Given the description of an element on the screen output the (x, y) to click on. 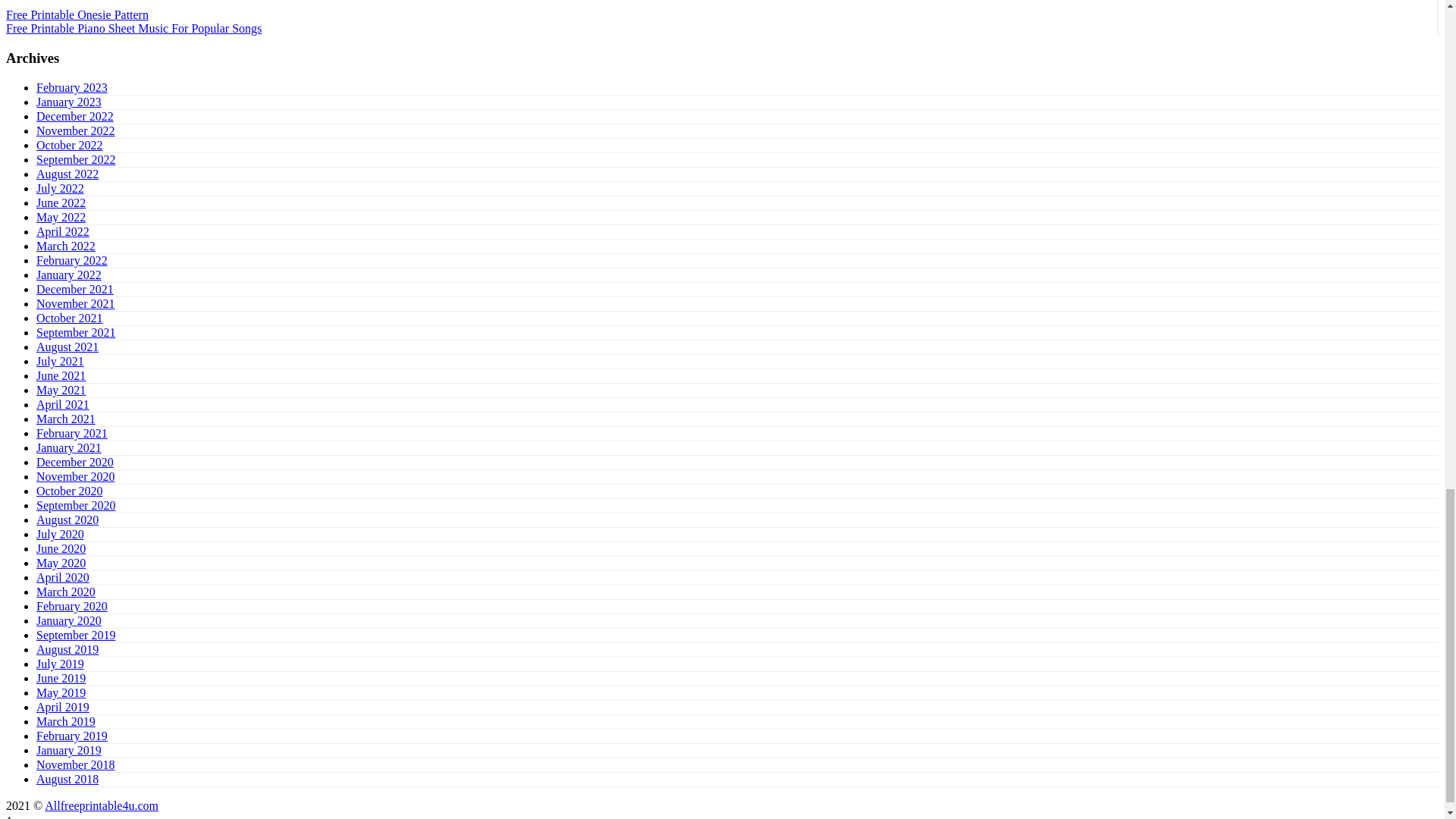
February 2023 (71, 87)
November 2021 (75, 303)
July 2021 (60, 360)
November 2022 (75, 130)
July 2022 (60, 187)
Free Printable Piano Sheet Music For Popular Songs (133, 28)
December 2021 (74, 288)
December 2022 (74, 115)
Free Printable Onesie Pattern (76, 14)
April 2022 (62, 231)
August 2022 (67, 173)
August 2021 (67, 346)
September 2021 (75, 332)
March 2022 (66, 245)
January 2023 (68, 101)
